Given the description of an element on the screen output the (x, y) to click on. 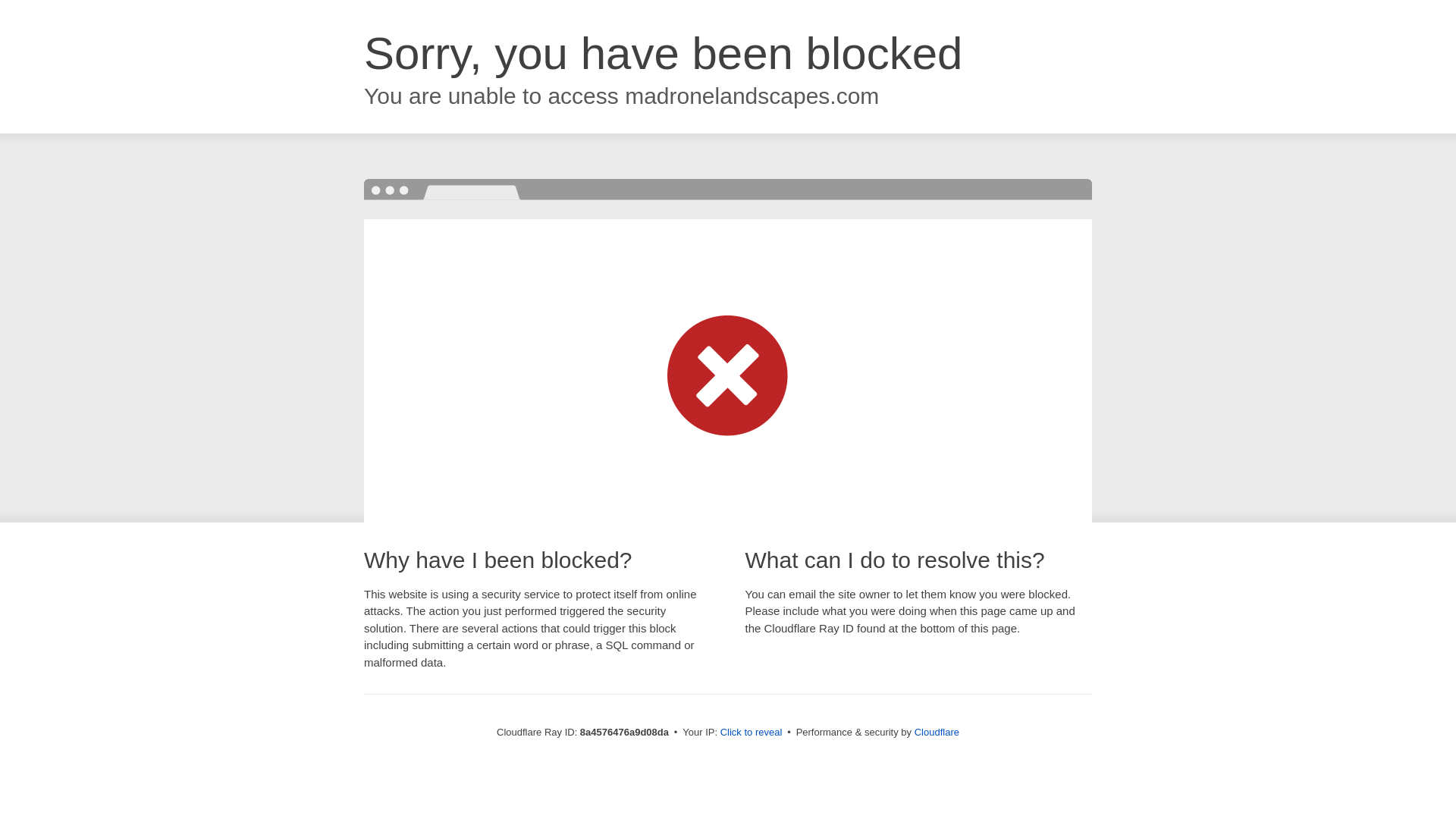
Cloudflare (936, 731)
Click to reveal (751, 732)
